Given the description of an element on the screen output the (x, y) to click on. 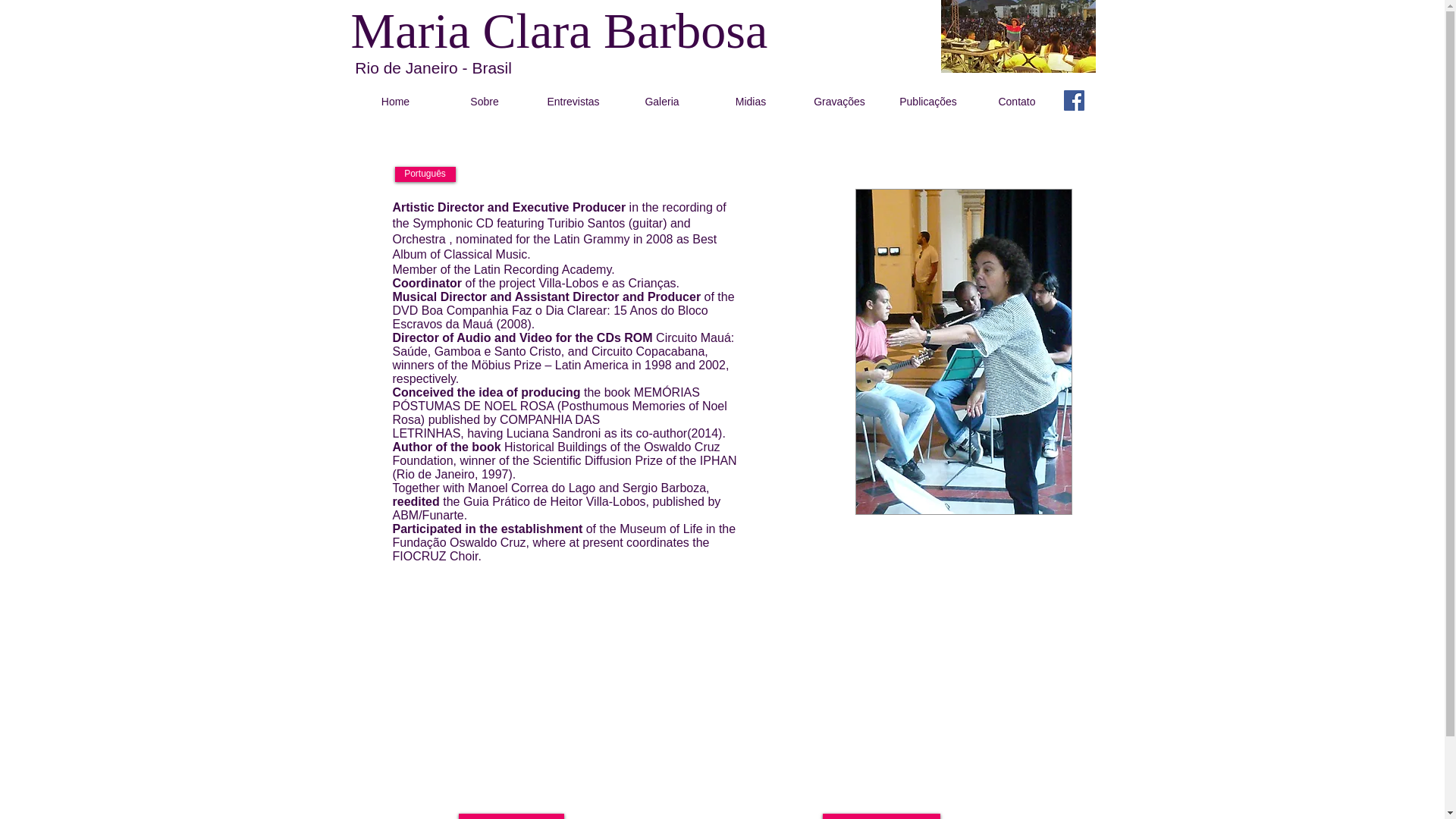
Midias (750, 101)
Galeria (661, 101)
Entrevistas (880, 816)
Sobre (483, 101)
Contato (1016, 101)
Home (394, 101)
Entrevistas (573, 101)
